Given the description of an element on the screen output the (x, y) to click on. 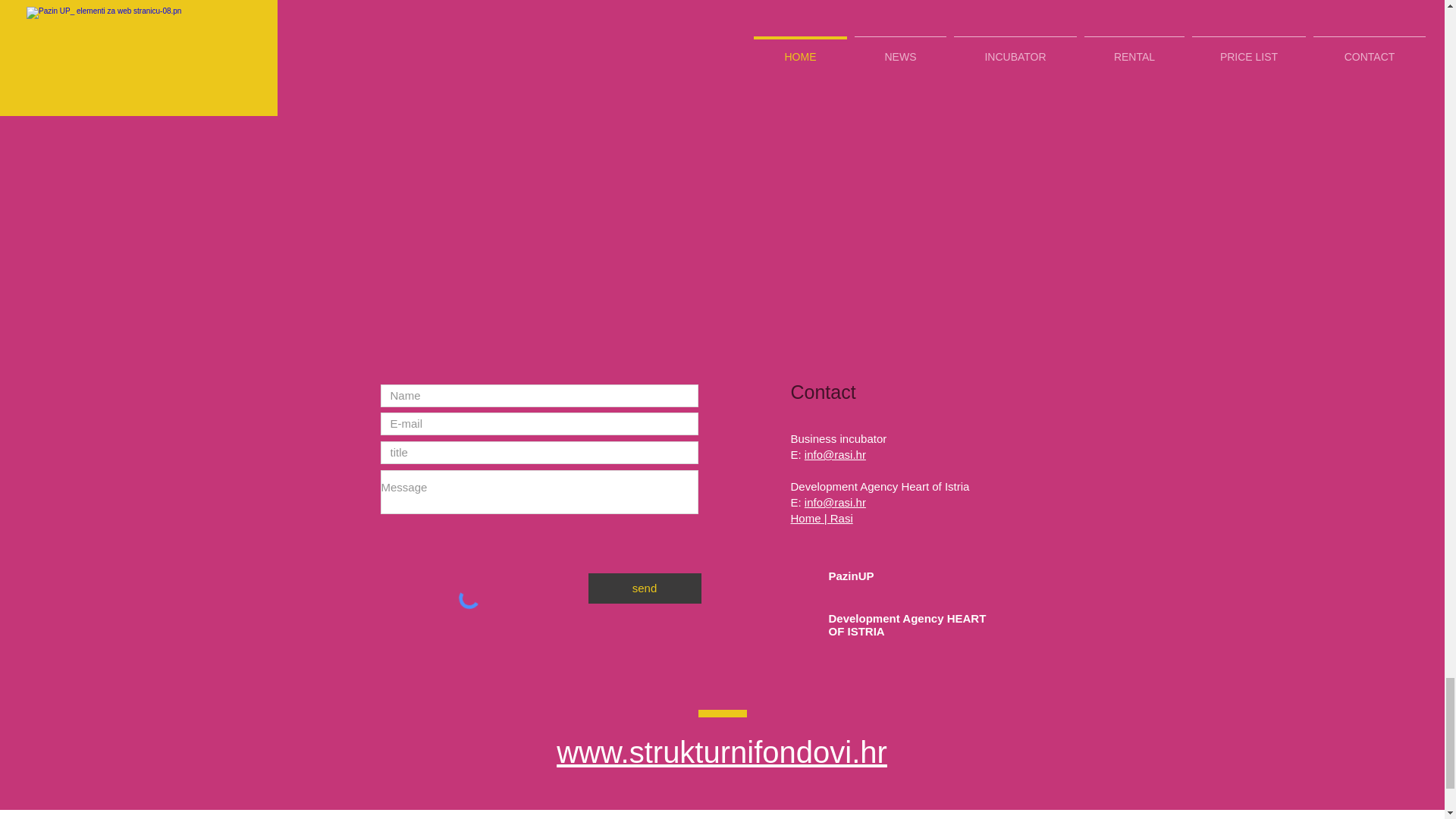
www.strukturnifondovi.hr (721, 752)
send (644, 588)
Development Agency HEART OF ISTRIA (906, 624)
